Given the description of an element on the screen output the (x, y) to click on. 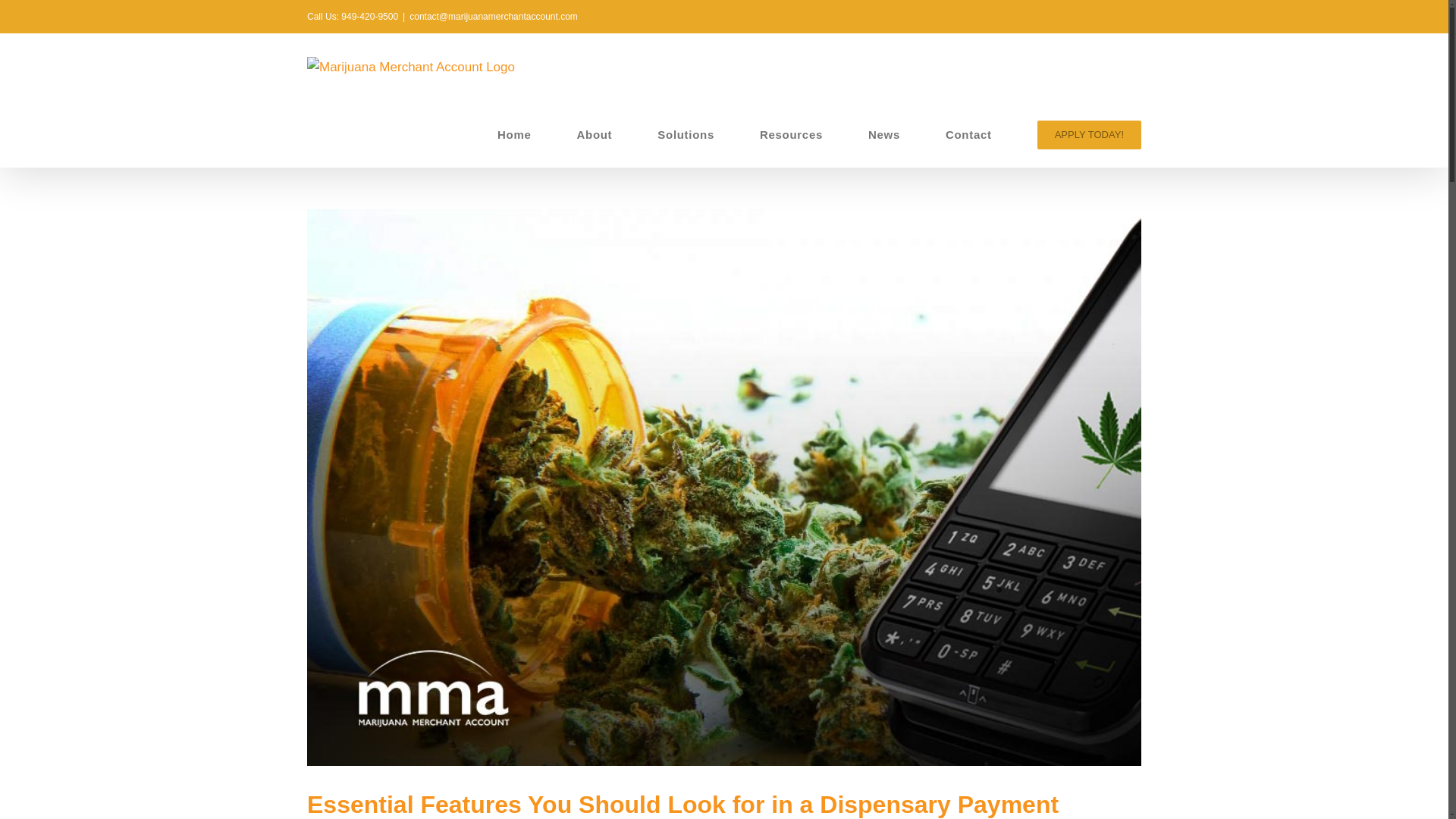
Resources (791, 133)
APPLY TODAY! (1088, 133)
